Given the description of an element on the screen output the (x, y) to click on. 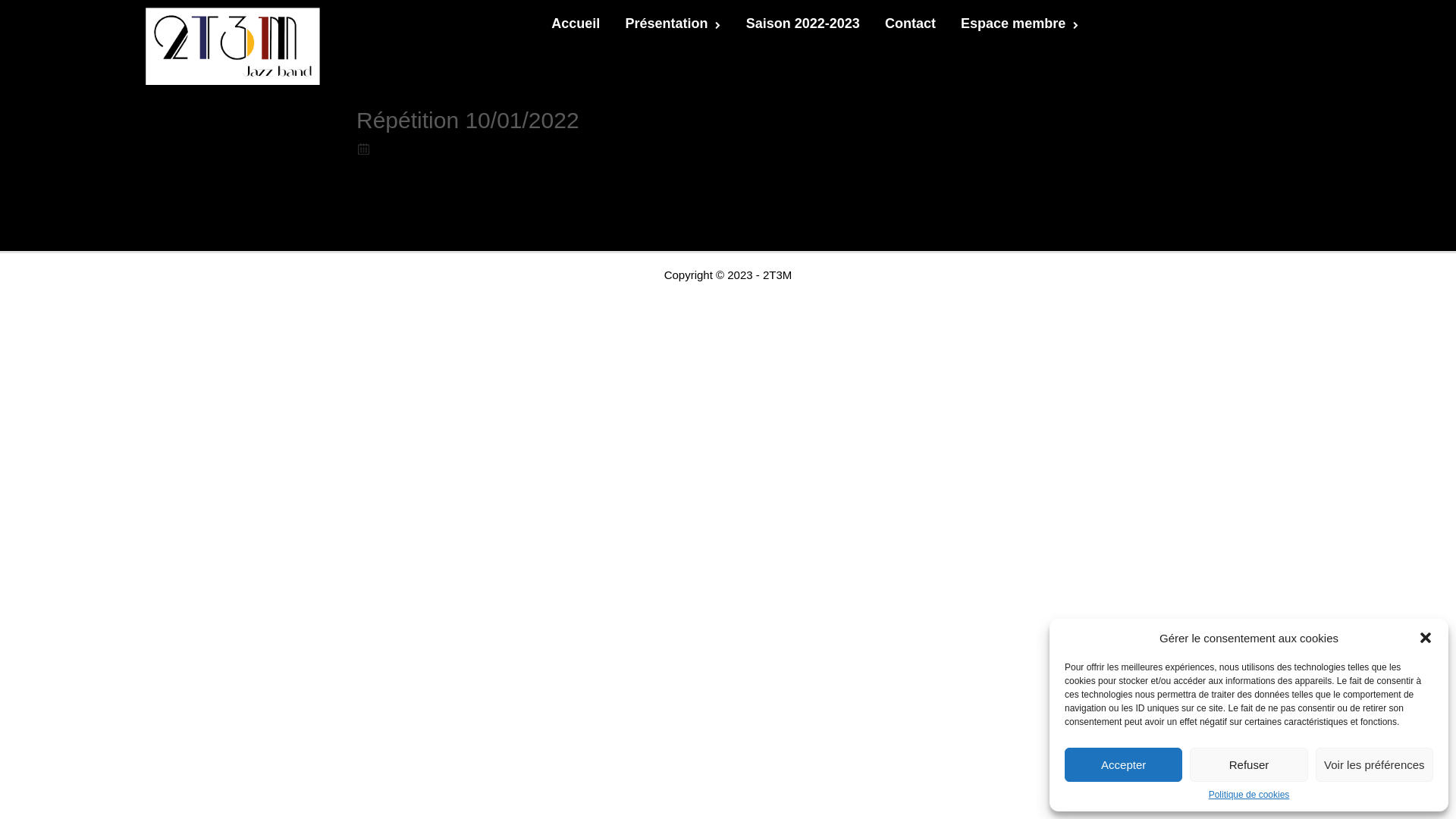
Big Band 2T3M Element type: hover (232, 45)
Refuser Element type: text (1248, 764)
Espace membre Element type: text (1019, 23)
Contact Element type: text (909, 23)
Date Element type: hover (364, 148)
Saison 2022-2023 Element type: text (802, 23)
Accueil Element type: text (575, 23)
Politique de cookies Element type: text (1248, 794)
Accepter Element type: text (1123, 764)
